Given the description of an element on the screen output the (x, y) to click on. 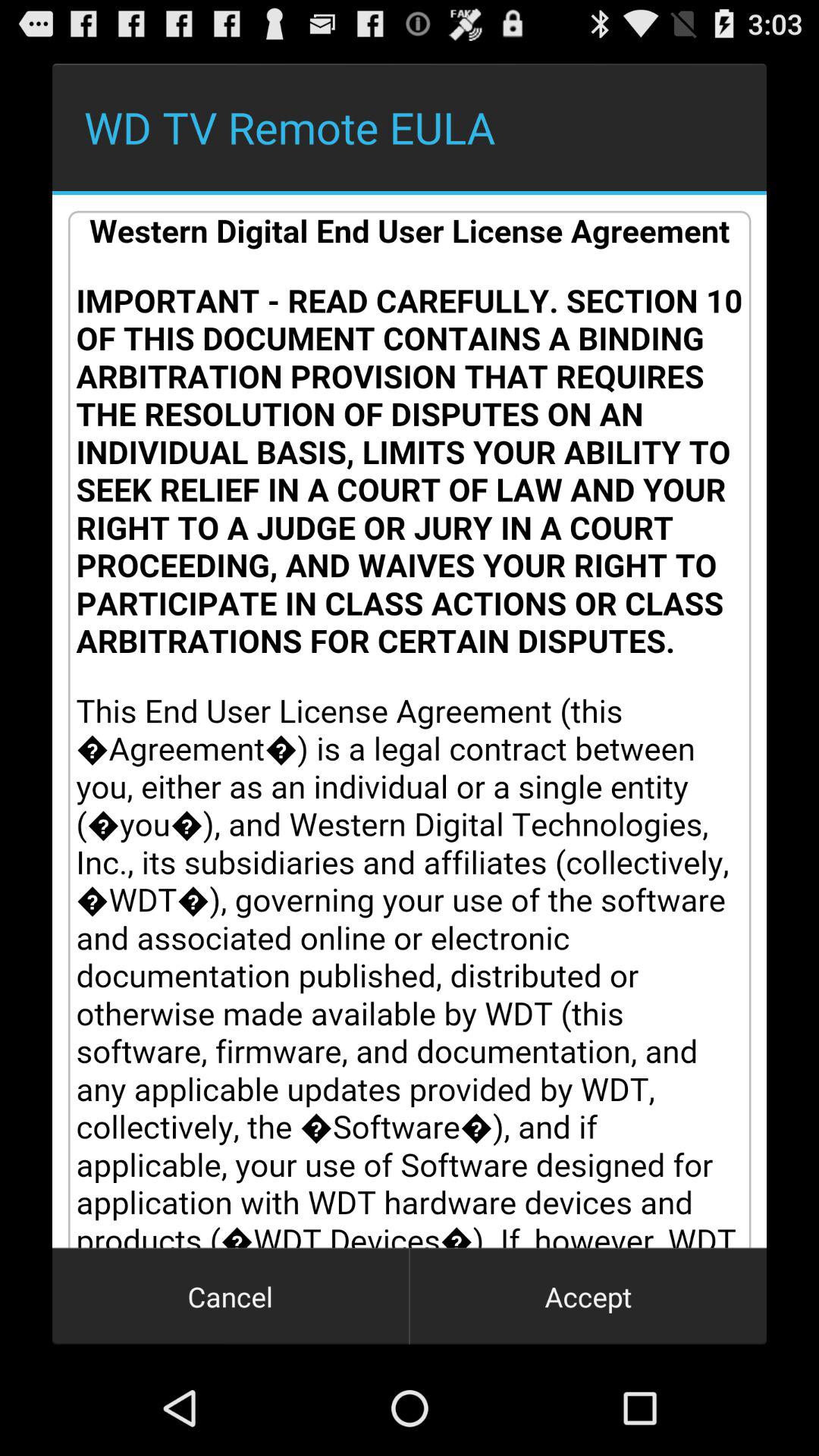
about wd tv remote (409, 721)
